Given the description of an element on the screen output the (x, y) to click on. 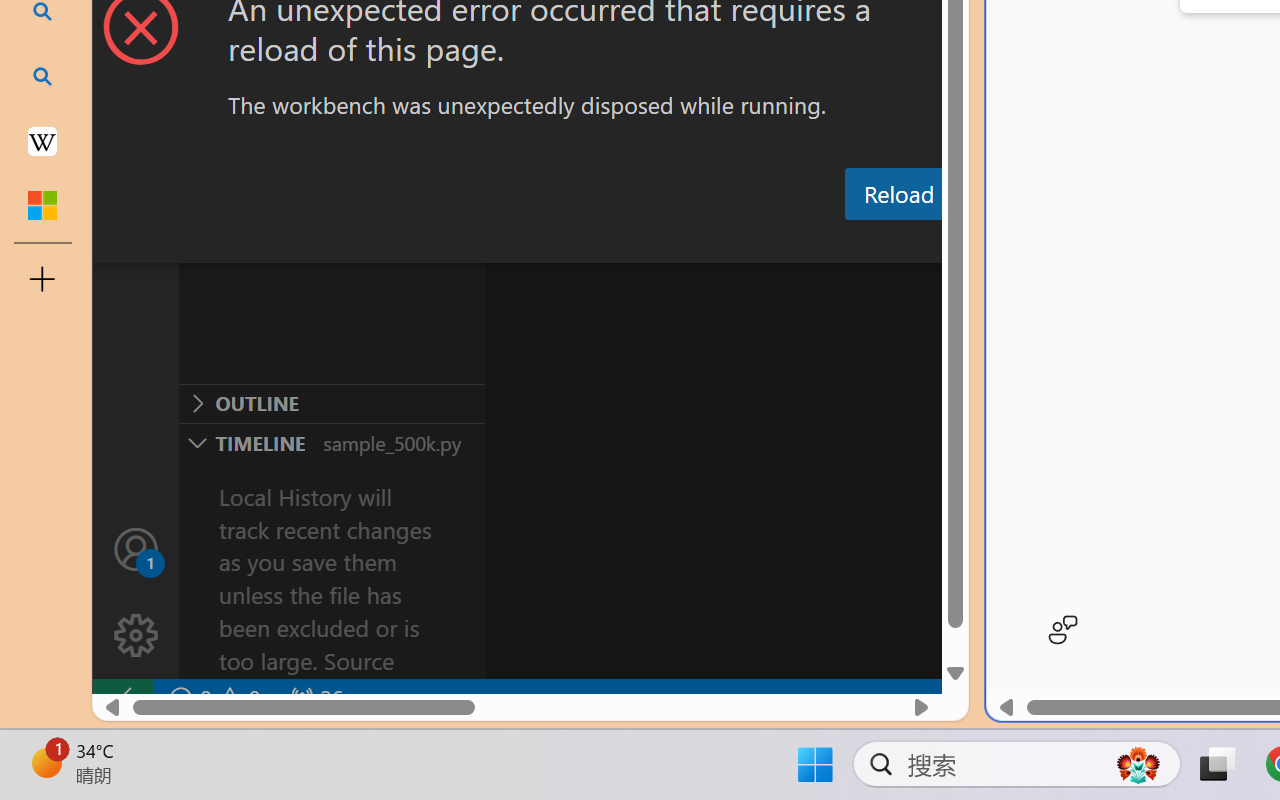
Manage (135, 591)
remote (122, 698)
Accounts - Sign in requested (135, 548)
Problems (Ctrl+Shift+M) (567, 243)
